Given the description of an element on the screen output the (x, y) to click on. 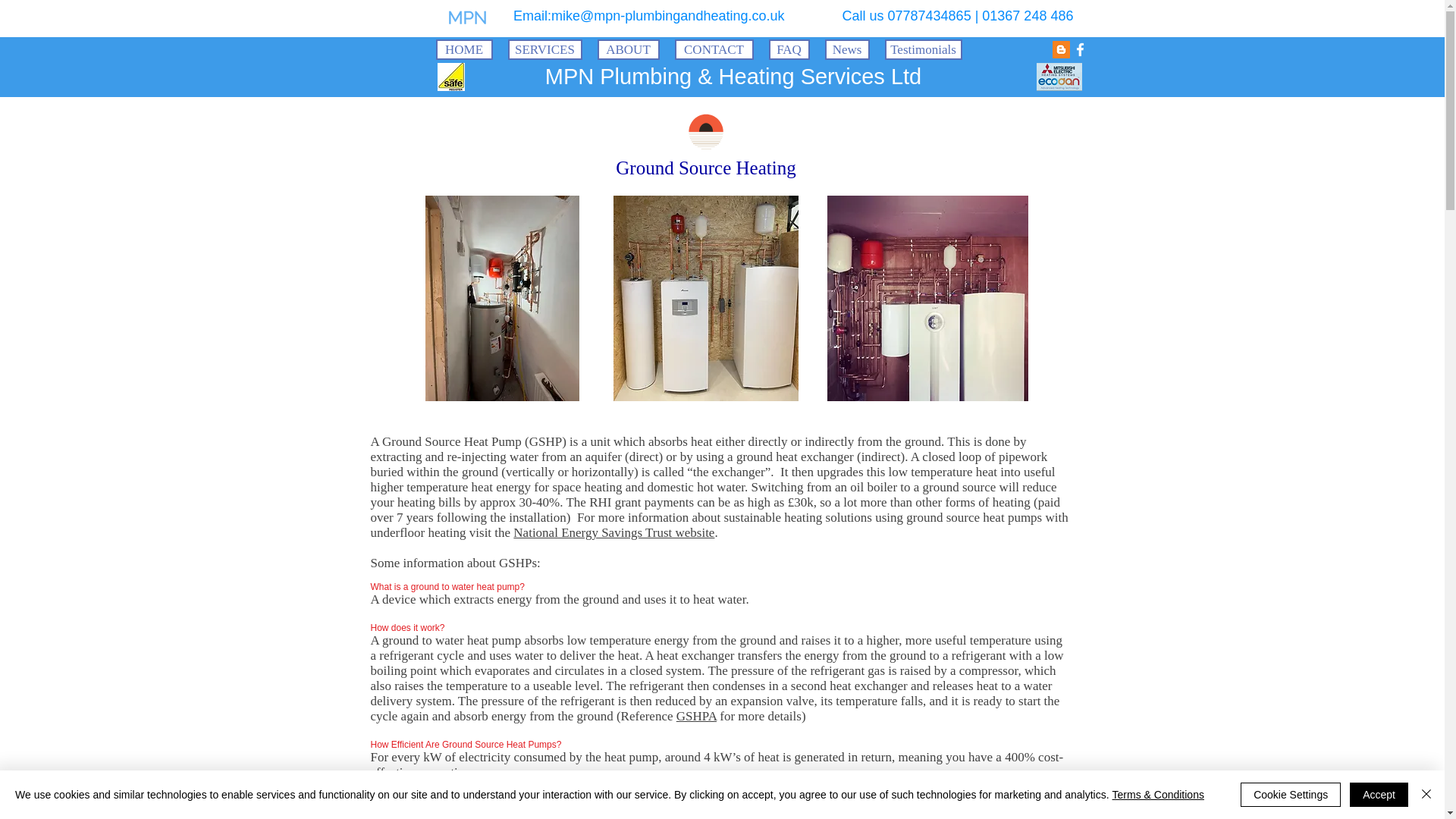
Accept (1378, 794)
HOME (463, 49)
Navigates to Home page (467, 18)
Air source heat pump example (704, 298)
FAQ (788, 49)
IMG-20230403-WA0038.jpg (927, 298)
ABOUT (627, 49)
National Energy Savings Trust website (613, 532)
CONTACT (714, 49)
Cookie Settings (1290, 794)
